Given the description of an element on the screen output the (x, y) to click on. 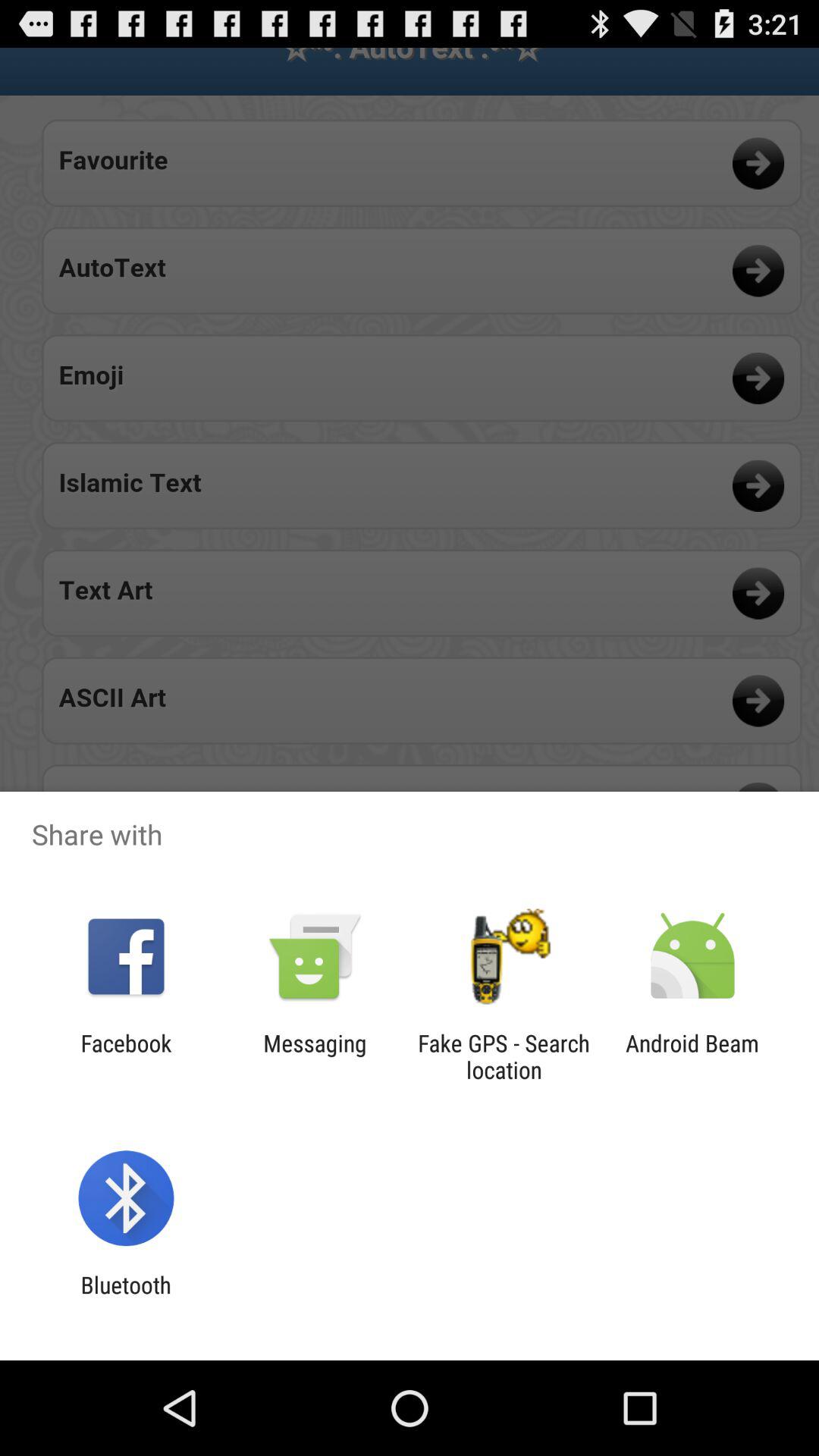
turn on the facebook app (125, 1056)
